Given the description of an element on the screen output the (x, y) to click on. 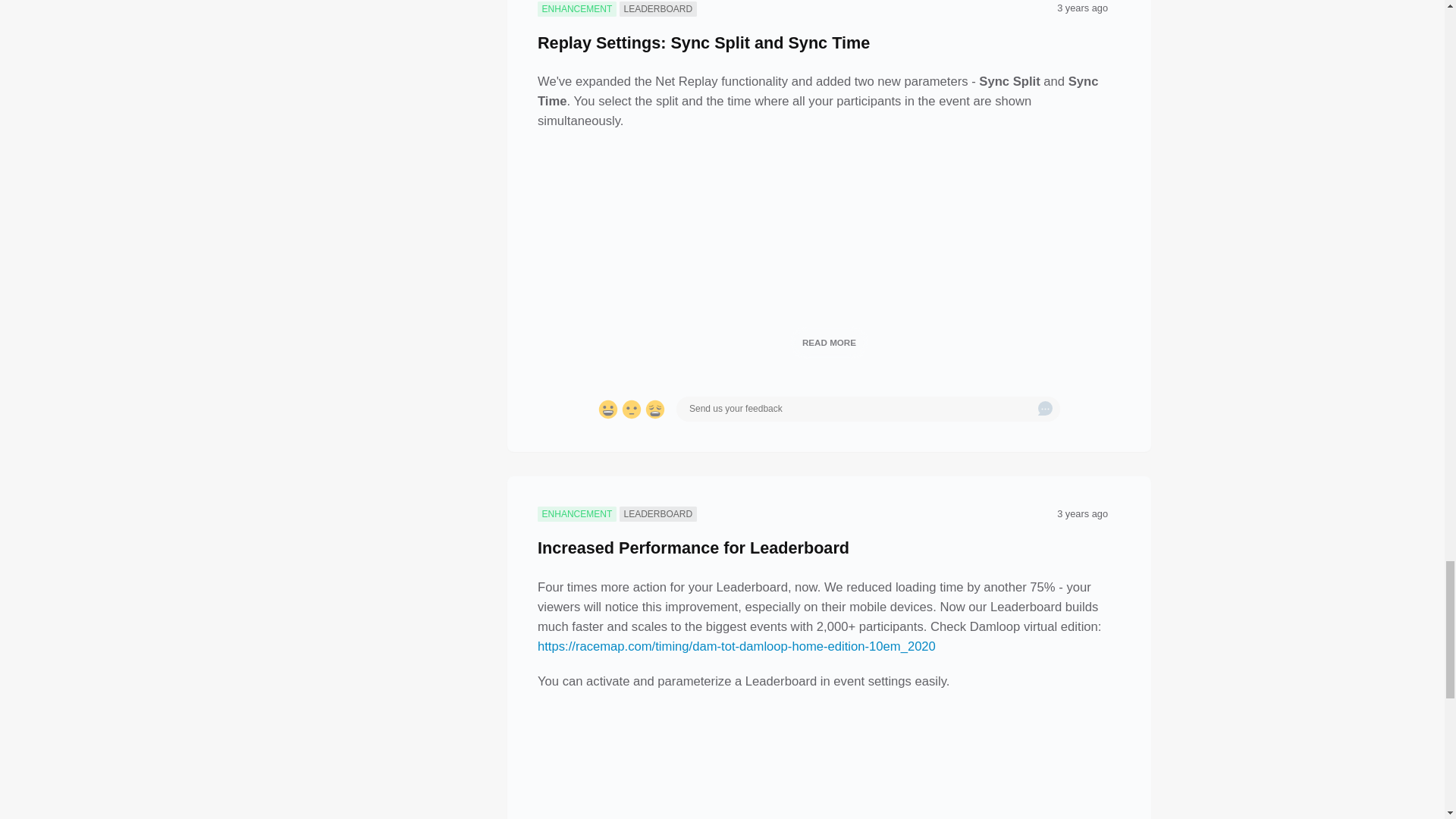
Submit Button (1044, 409)
